Given the description of an element on the screen output the (x, y) to click on. 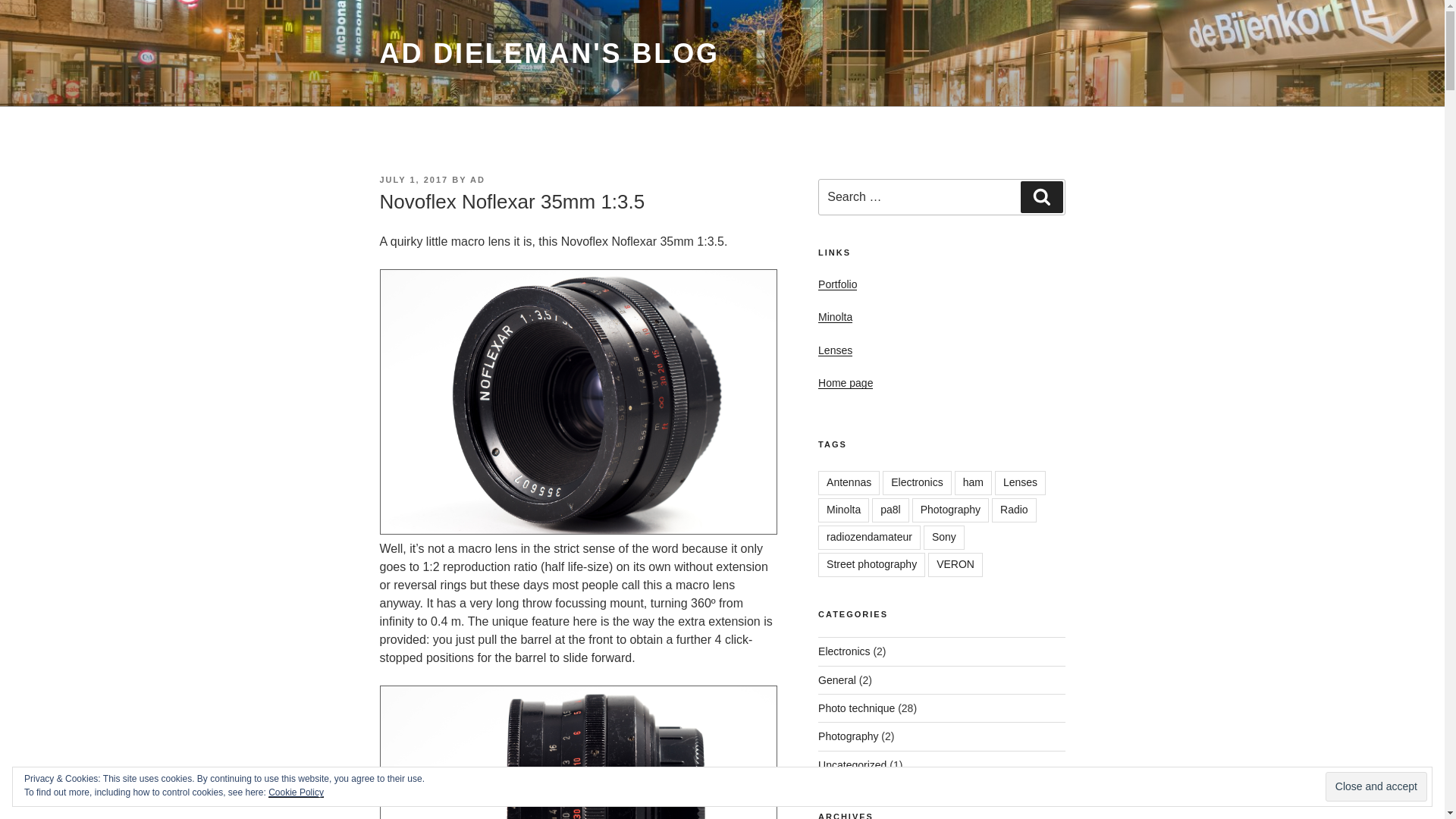
JULY 1, 2017 (413, 179)
AD DIELEMAN'S BLOG (548, 52)
AD (477, 179)
Sony (943, 537)
Photography (950, 509)
pa8l (890, 509)
Radio (1013, 509)
Minolta (843, 509)
Minolta (834, 316)
Antennas (848, 482)
